Given the description of an element on the screen output the (x, y) to click on. 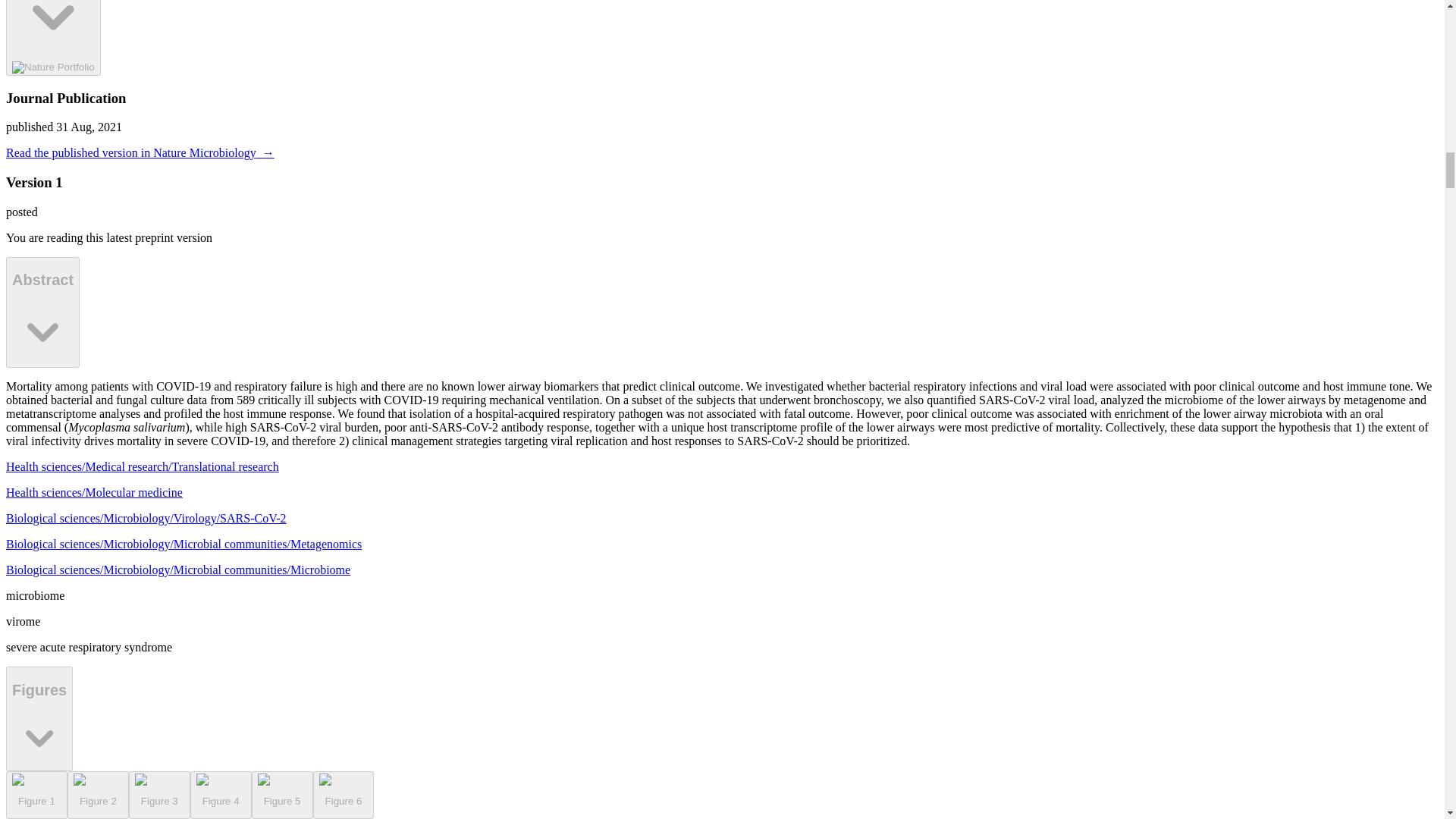
Figure 2 (97, 795)
Figure 5 (282, 795)
Figure 3 (159, 795)
Figure 4 (220, 795)
Figure 1 (52, 38)
